Given the description of an element on the screen output the (x, y) to click on. 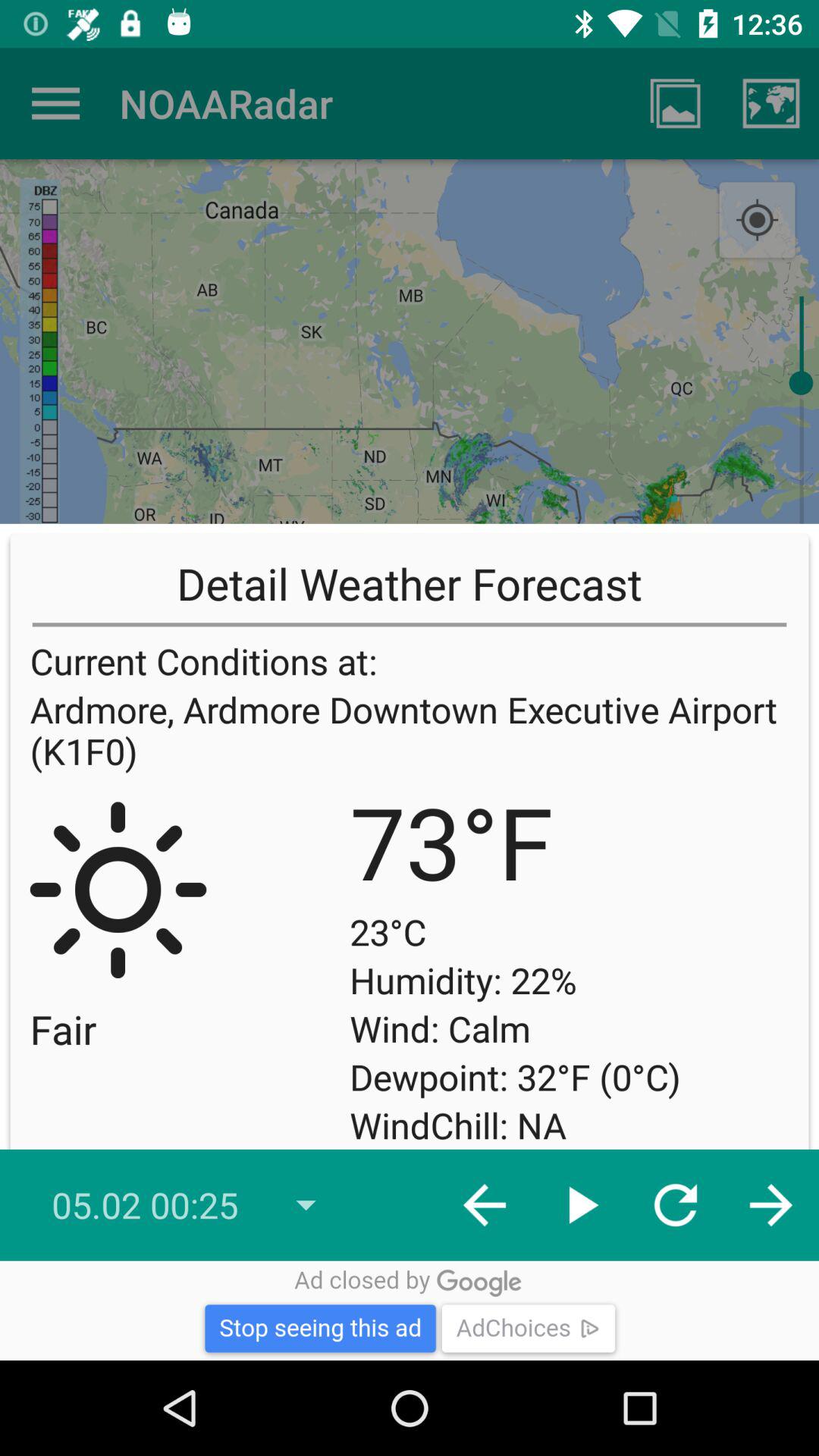
turn off the item to the right of the dewpoint 32 f icon (757, 999)
